Given the description of an element on the screen output the (x, y) to click on. 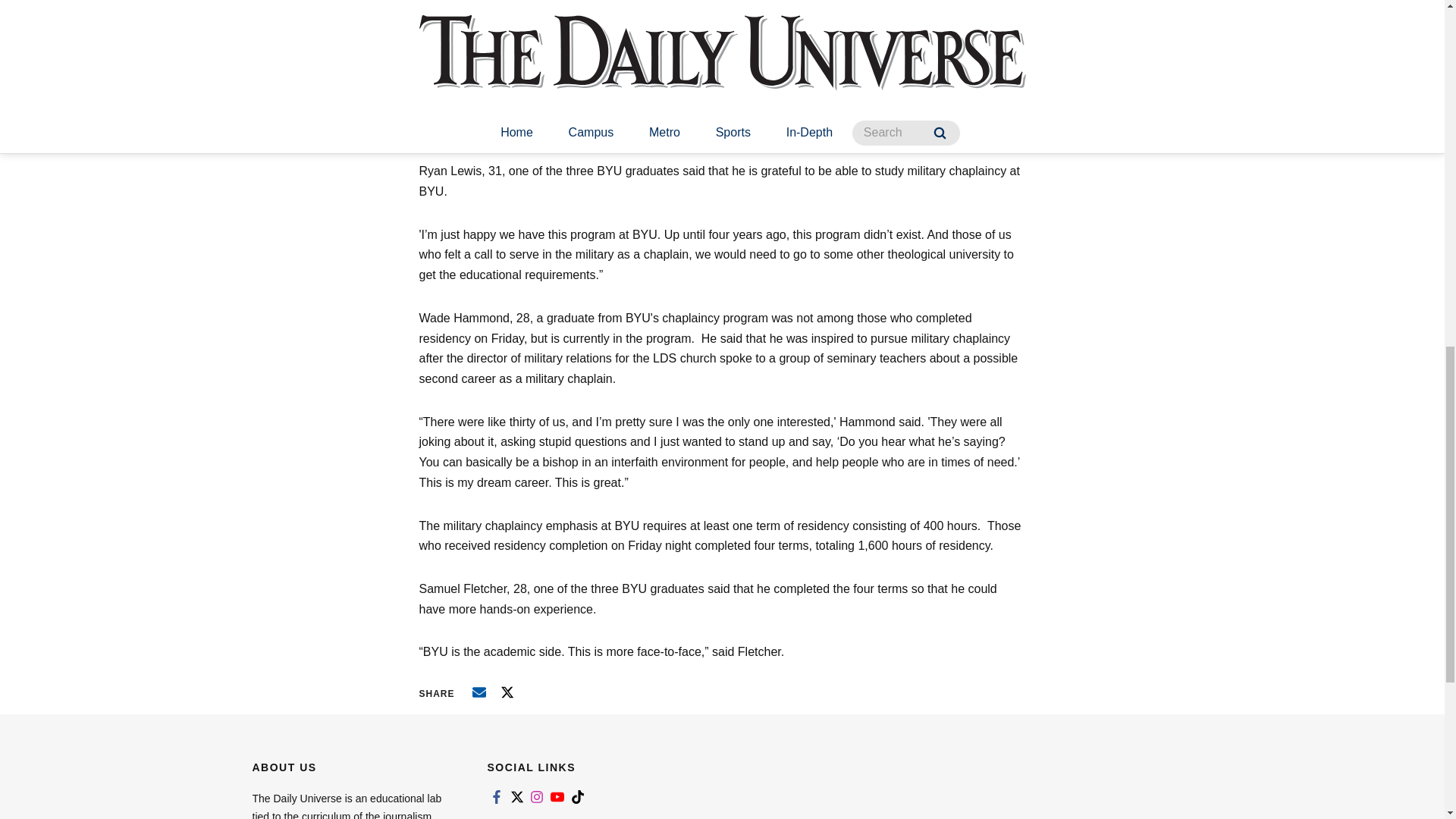
Link to facebook (495, 796)
Link to tiktok (577, 796)
Link to instagram (536, 796)
Email (478, 692)
Link to twitter (515, 796)
Link to youtube (557, 796)
